Given the description of an element on the screen output the (x, y) to click on. 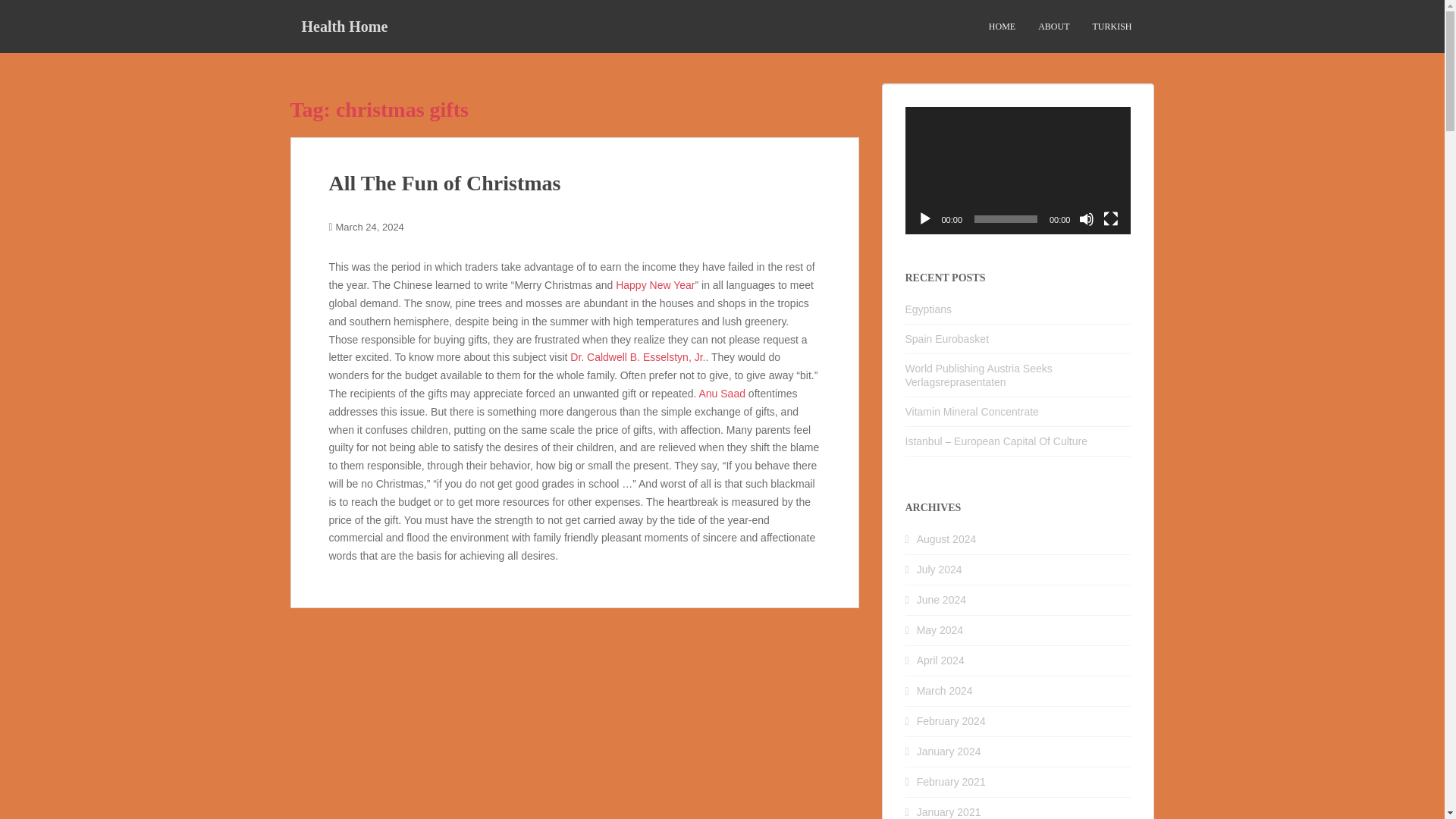
Anu Saad (721, 393)
Play (925, 218)
July 2024 (939, 569)
ABOUT (1053, 26)
March 2024 (944, 690)
May 2024 (939, 630)
June 2024 (941, 599)
January 2024 (949, 751)
Happy New Year (654, 285)
Health Home (343, 26)
